Given the description of an element on the screen output the (x, y) to click on. 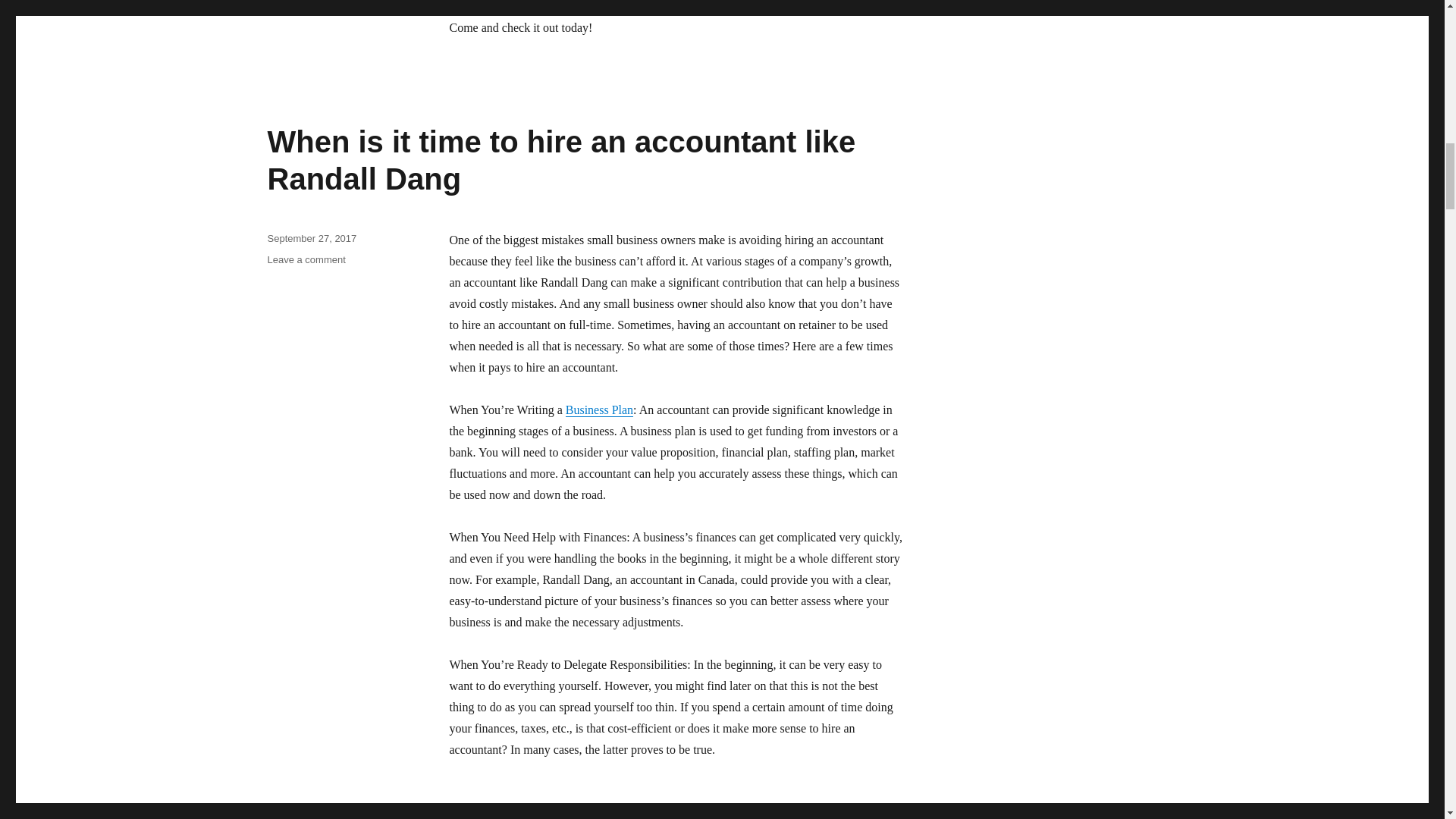
September 27, 2017 (311, 238)
When is it time to hire an accountant like Randall Dang (561, 160)
Business Plan (599, 409)
